Given the description of an element on the screen output the (x, y) to click on. 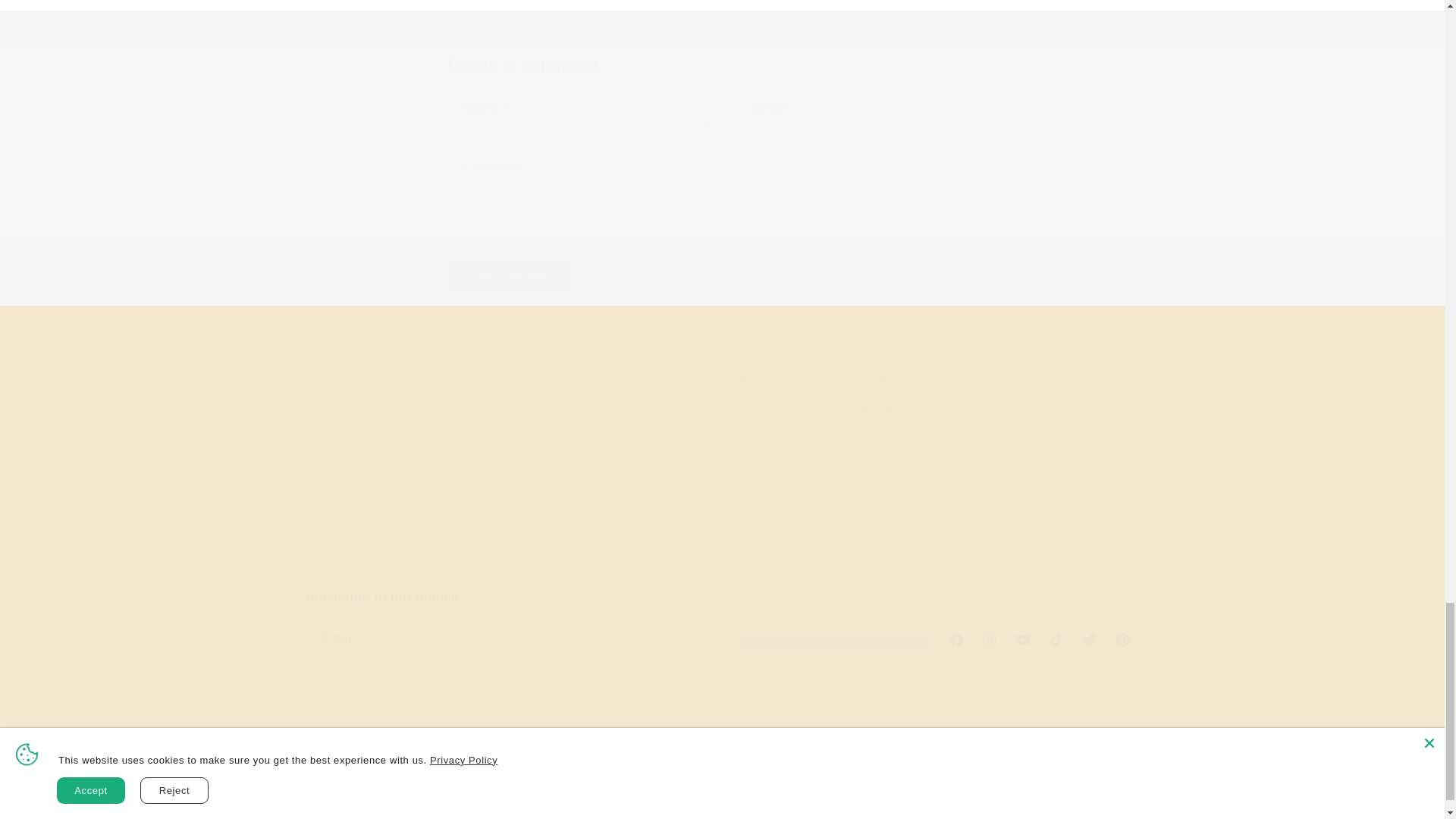
Post comment (510, 275)
